Given the description of an element on the screen output the (x, y) to click on. 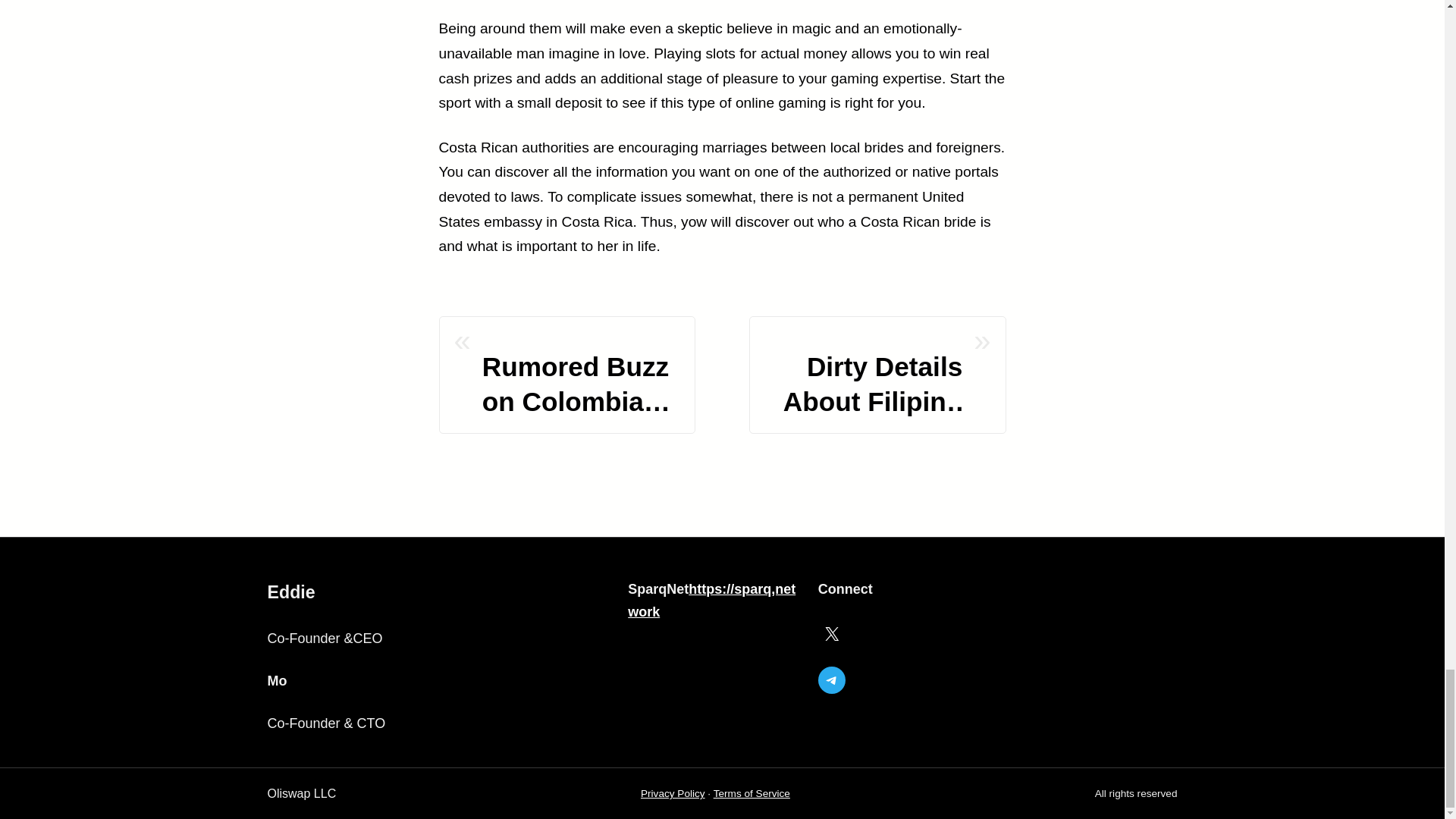
Privacy Policy (672, 793)
Rumored Buzz on Colombian Woman Exposed (580, 374)
Dirty Details About Filipino Women Revealed (863, 374)
Terms of Service (751, 793)
Telegram (831, 679)
X (831, 633)
